Given the description of an element on the screen output the (x, y) to click on. 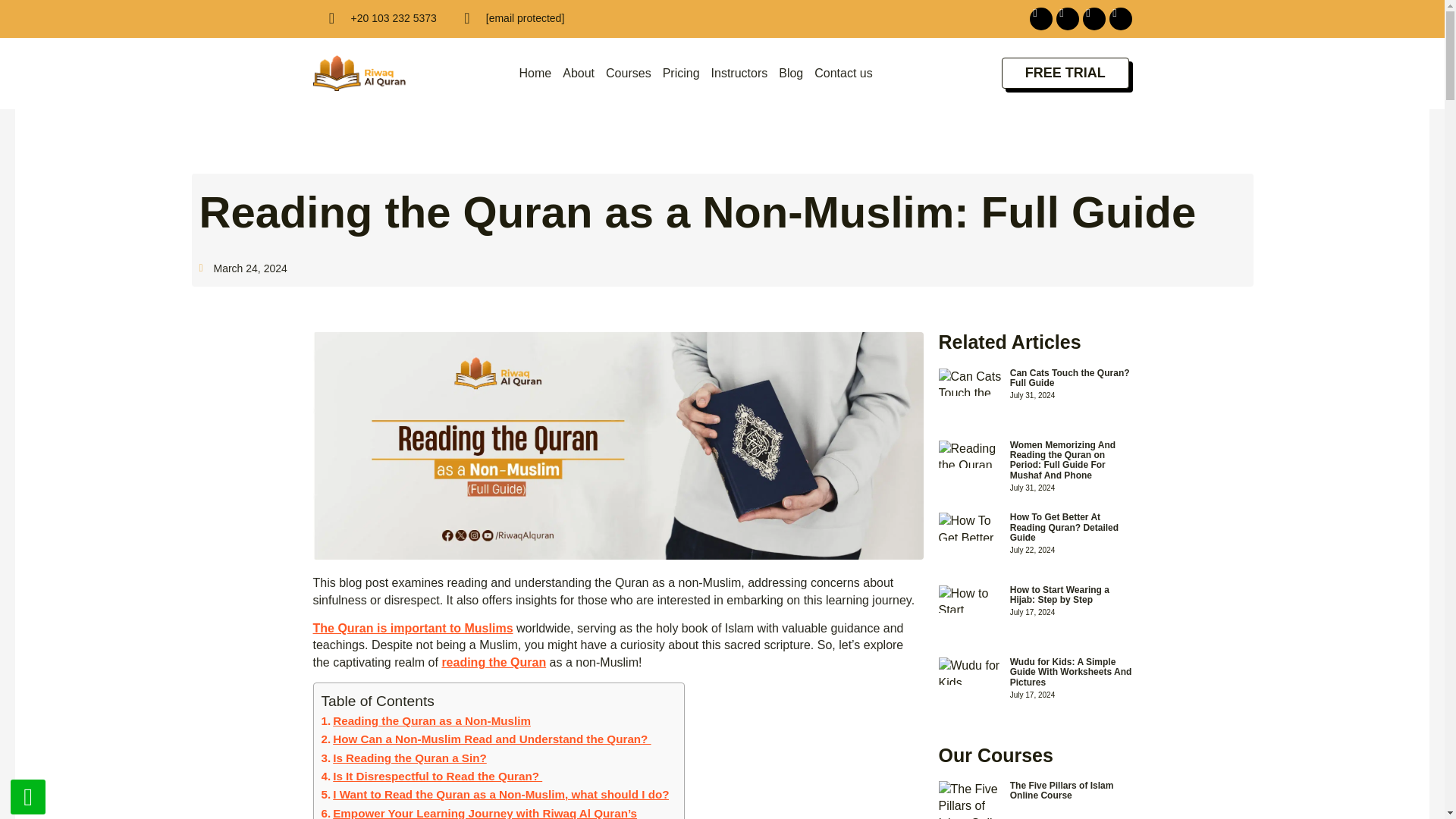
I Want to Read the Quran as a Non-Muslim, what should I do? (495, 794)
Home (535, 73)
Twitter (1094, 18)
About (578, 73)
Courses (627, 73)
Reading the Quran as a Non-Muslim (426, 720)
Youtube (1119, 18)
Facebook-f (1040, 18)
